Given the description of an element on the screen output the (x, y) to click on. 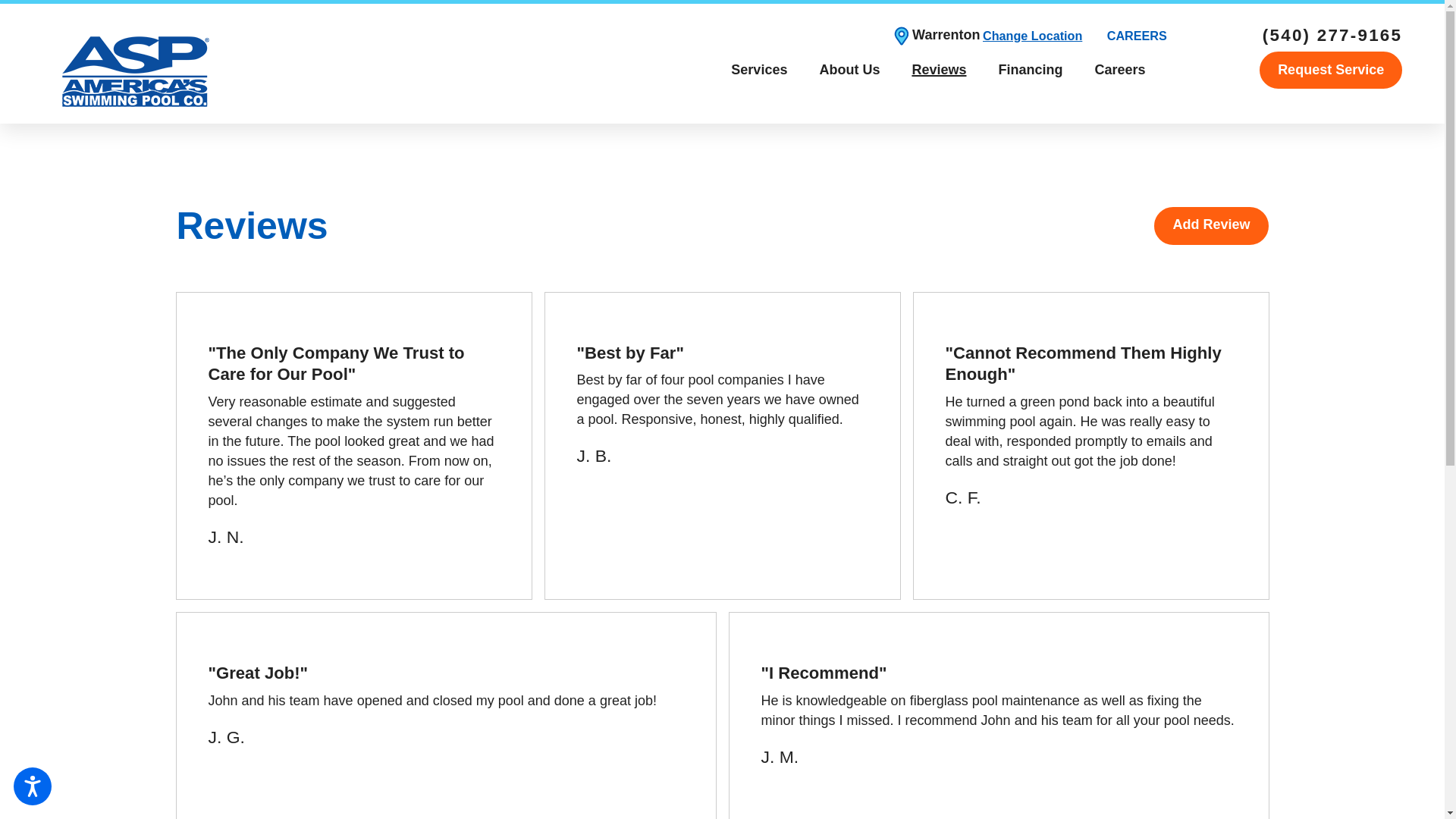
Financing (1029, 69)
Search our site (1175, 69)
Careers (1119, 69)
Open the accessibility options menu (31, 786)
Services (758, 70)
About Us (849, 70)
Change Location (1031, 35)
CAREERS (1136, 35)
ASP - America's Swimming Pool Company of Warrenton (134, 71)
Reviews (938, 69)
Request Service (1330, 69)
